Given the description of an element on the screen output the (x, y) to click on. 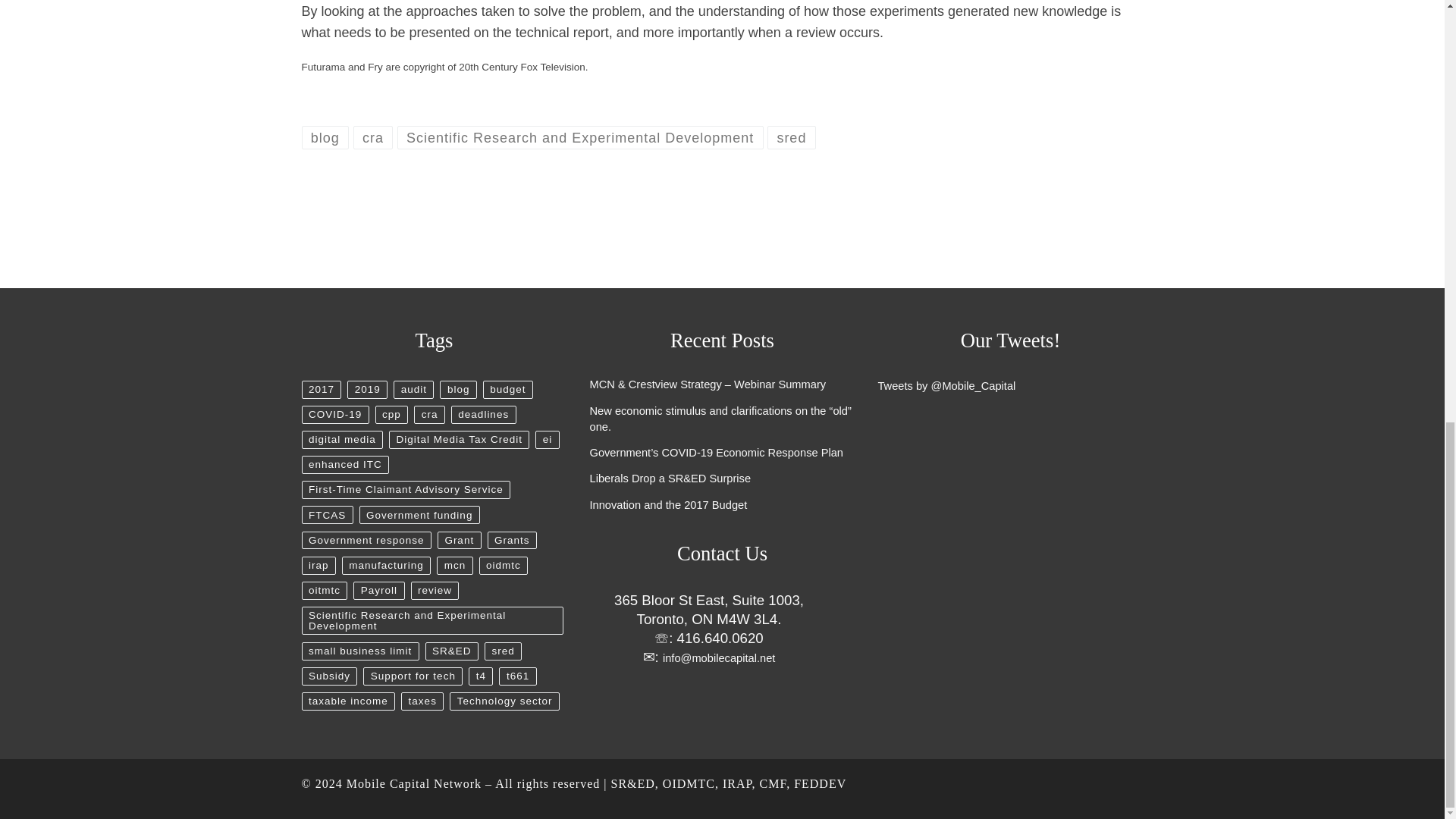
Mobile Capital Network (413, 783)
View all posts in cra (373, 137)
View all posts in sred (791, 137)
View all posts in blog (325, 137)
